Given the description of an element on the screen output the (x, y) to click on. 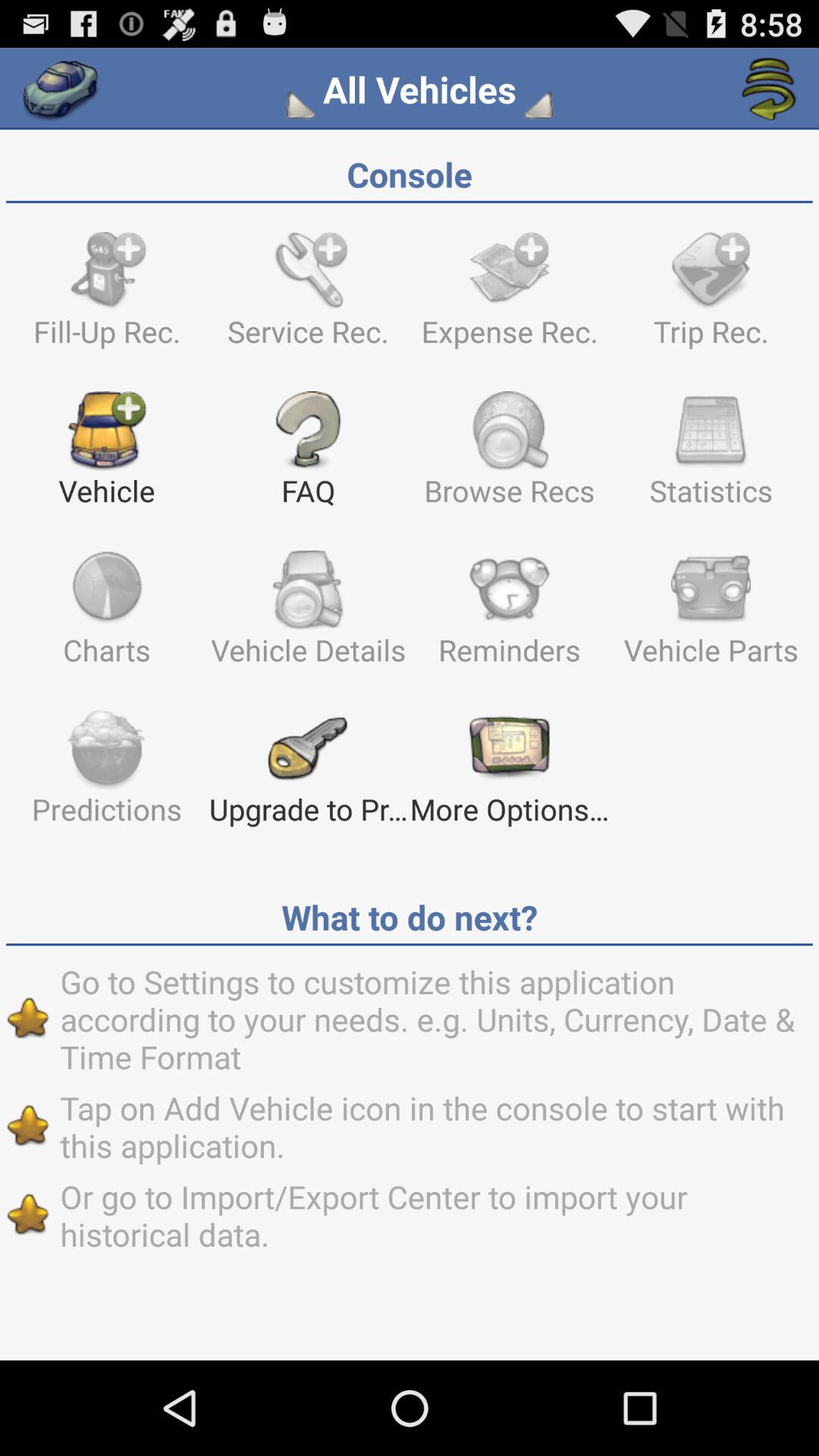
scroll until charts icon (106, 614)
